Given the description of an element on the screen output the (x, y) to click on. 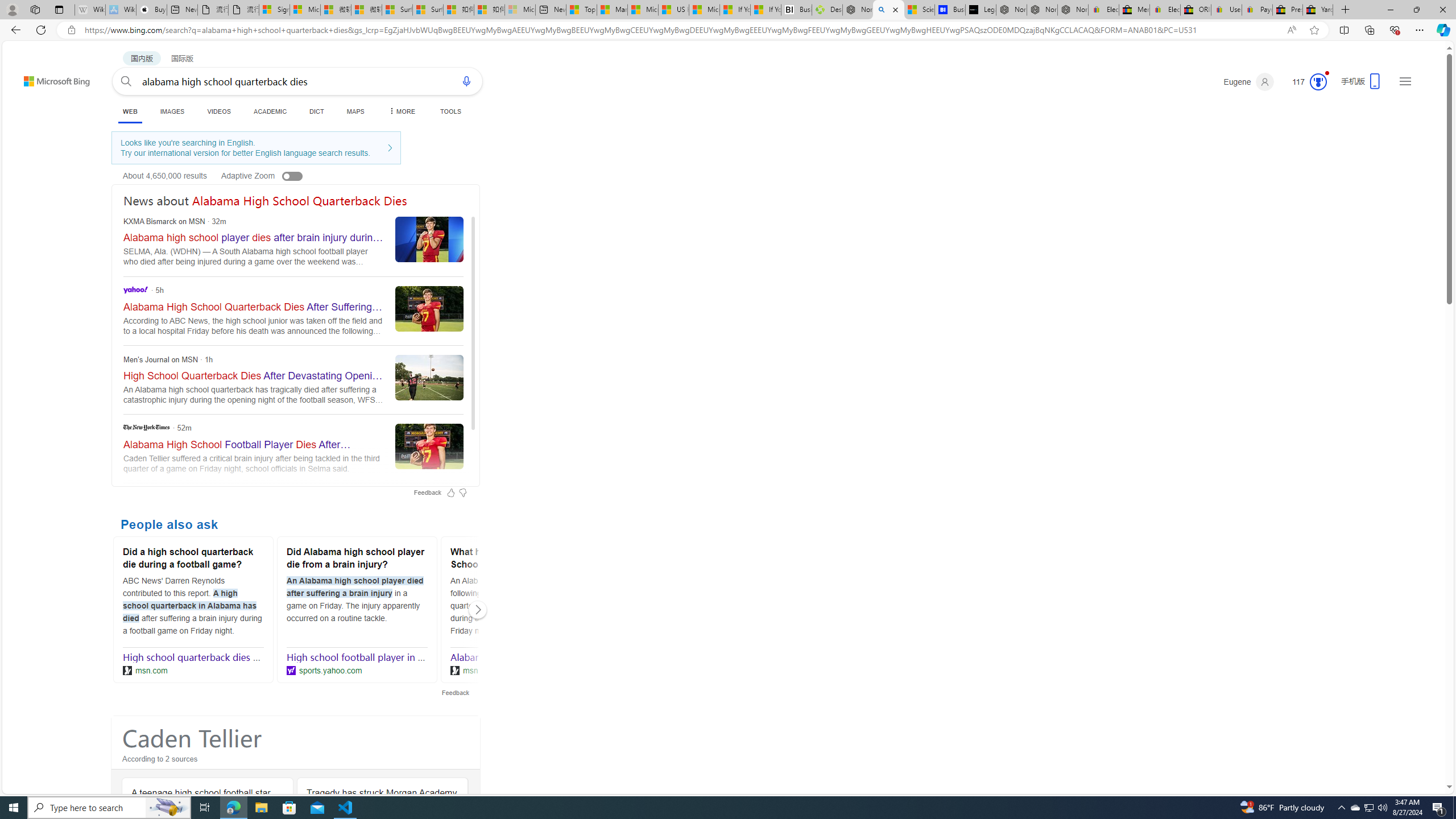
Did a high school quarterback die during a football game? (192, 560)
ACADEMIC (269, 111)
MAPS (355, 111)
MORE (400, 111)
The New York Times (145, 426)
What happened to a Selma High School quarterback? (520, 560)
DICT (316, 111)
